Given the description of an element on the screen output the (x, y) to click on. 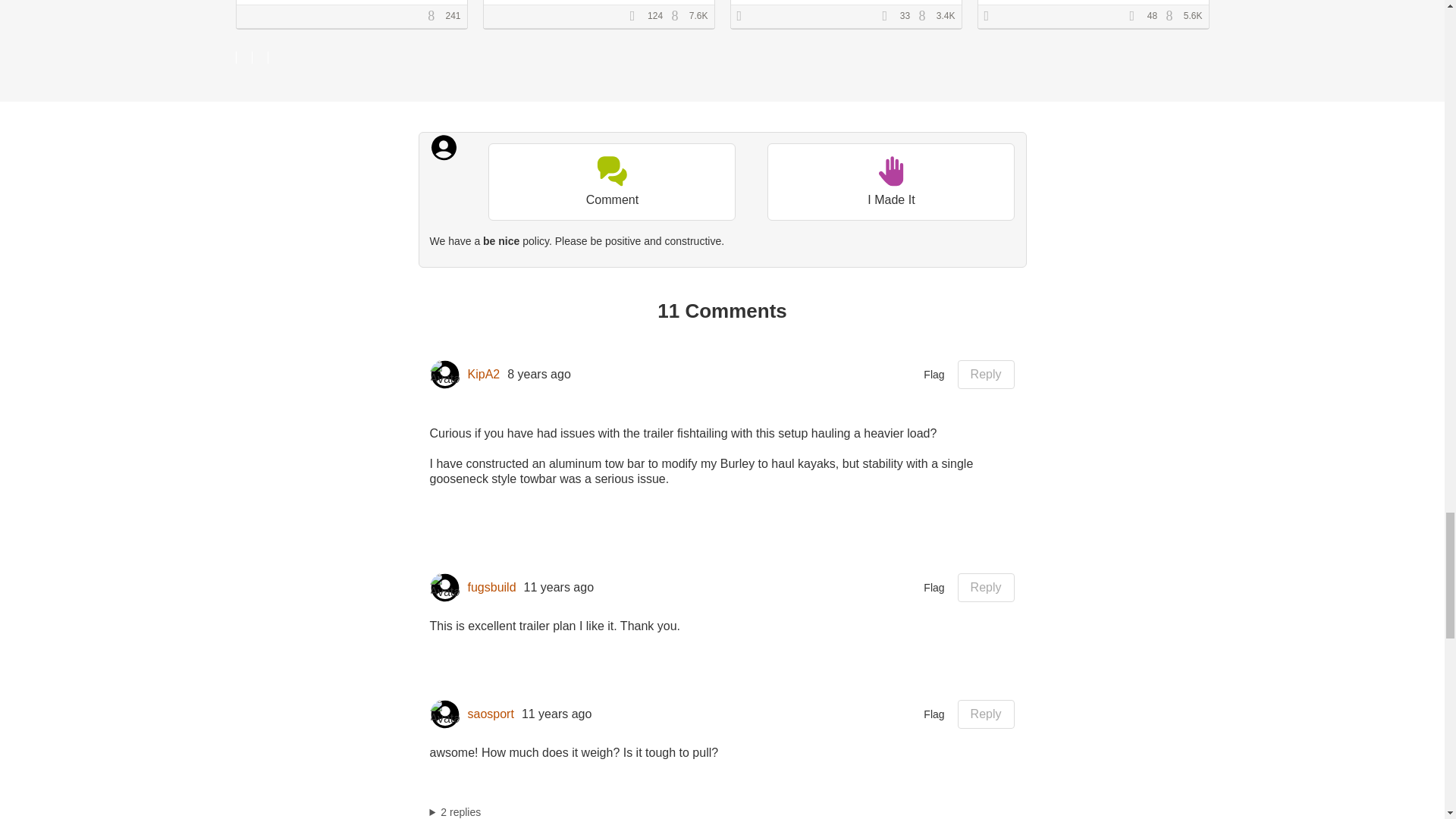
Views Count (1173, 16)
Favorites Count (1136, 16)
2016-08-10 07:55:58.0 (538, 374)
2013-08-12 09:55:17.0 (556, 713)
Favorites Count (637, 16)
Views Count (435, 16)
Contest Winner (744, 16)
Contest Winner (991, 16)
Views Count (925, 16)
Favorites Count (889, 16)
Views Count (678, 16)
Giovanni Aggiustatutto (570, 5)
2013-12-24 14:03:48.0 (559, 587)
